Given the description of an element on the screen output the (x, y) to click on. 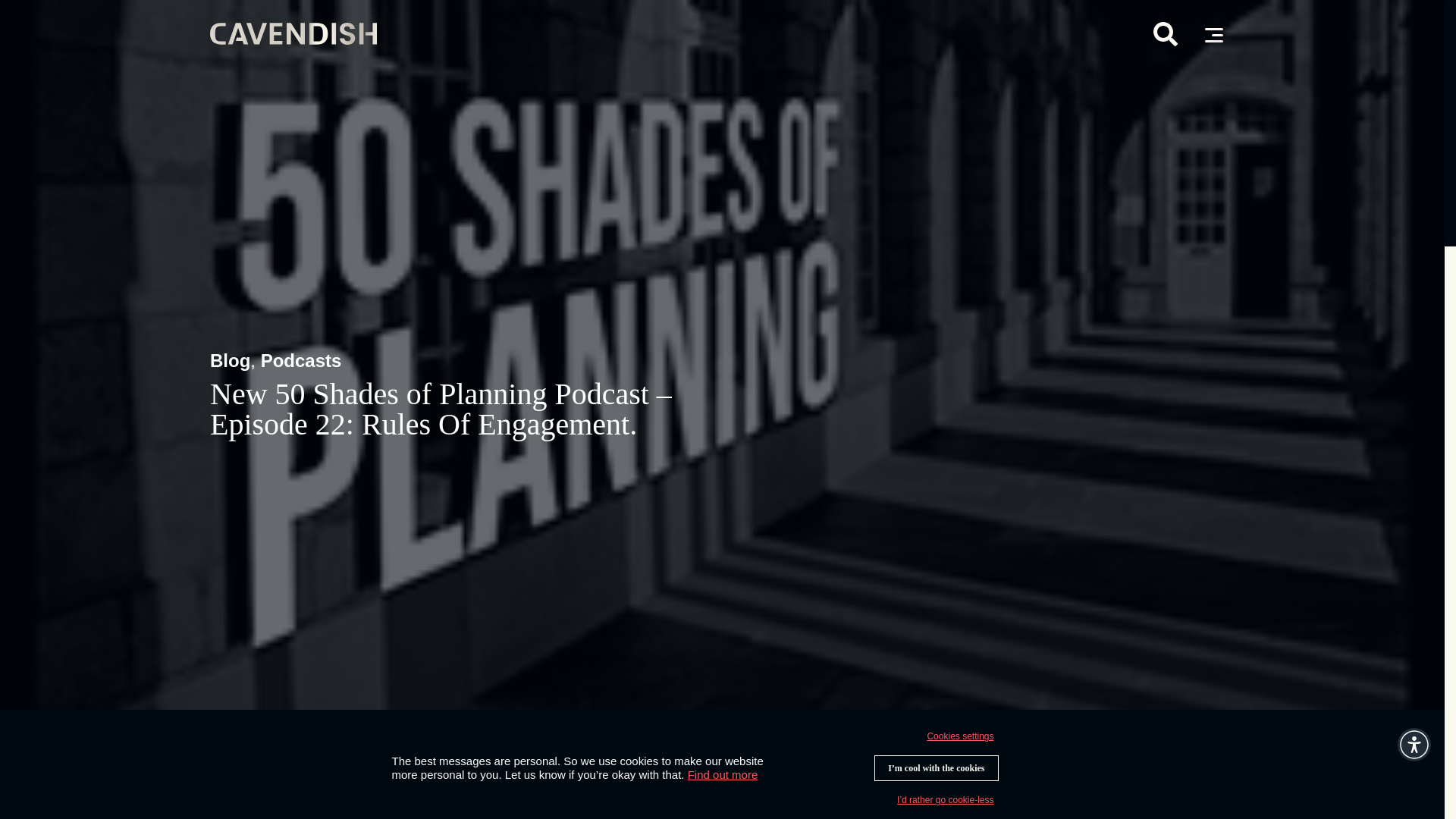
Cookies settings (959, 735)
Find out more (722, 774)
Accessibility Menu (1414, 744)
Search (1164, 34)
Search (1164, 33)
